Given the description of an element on the screen output the (x, y) to click on. 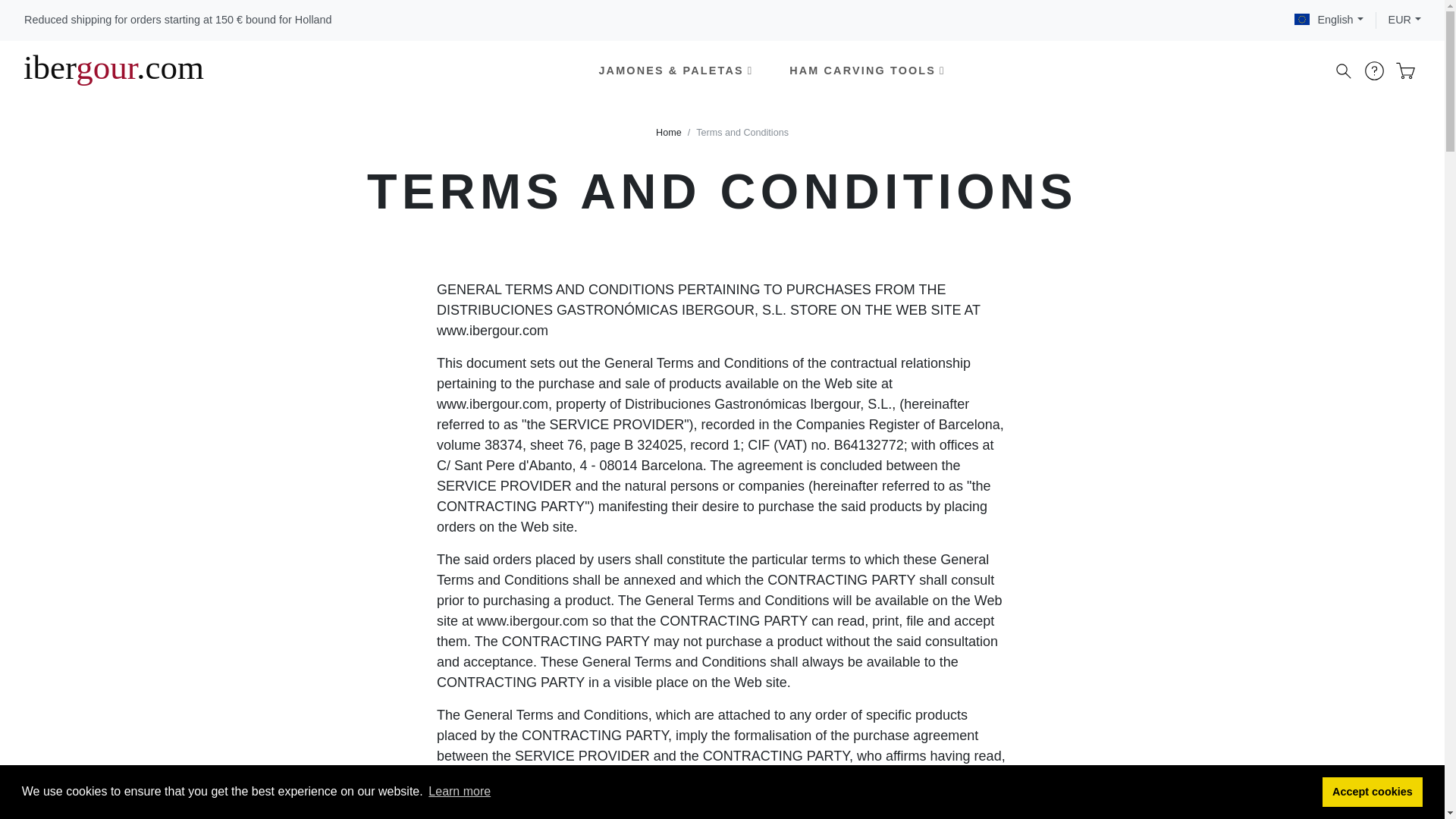
Accept cookies (1372, 791)
Learn more (459, 791)
EUR (1405, 19)
ibergour.com (113, 71)
English (1328, 19)
